Given the description of an element on the screen output the (x, y) to click on. 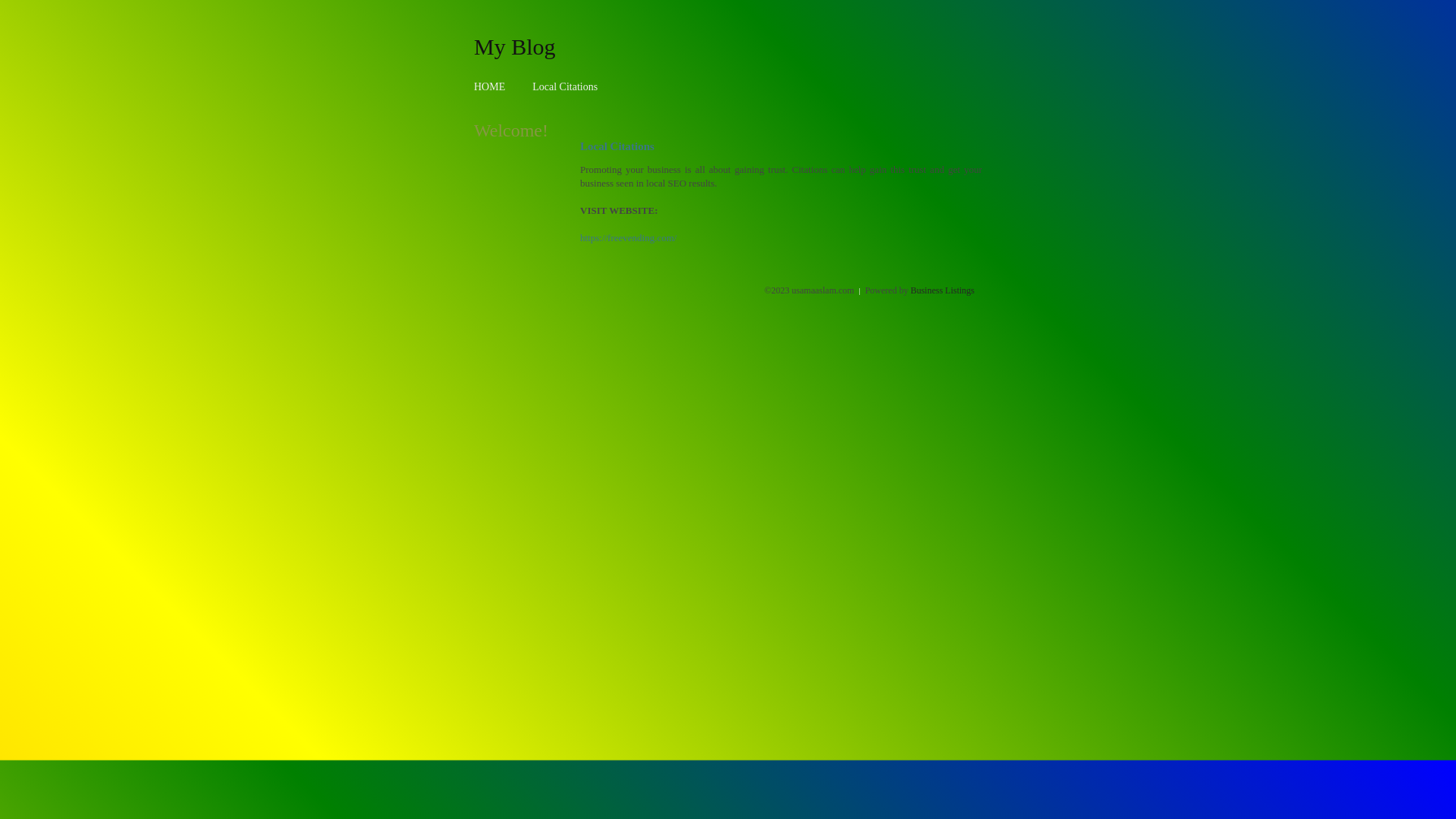
My Blog Element type: text (514, 46)
HOME Element type: text (489, 86)
Local Citations Element type: text (564, 86)
https://freevending.com/ Element type: text (628, 237)
Business Listings Element type: text (942, 290)
